Given the description of an element on the screen output the (x, y) to click on. 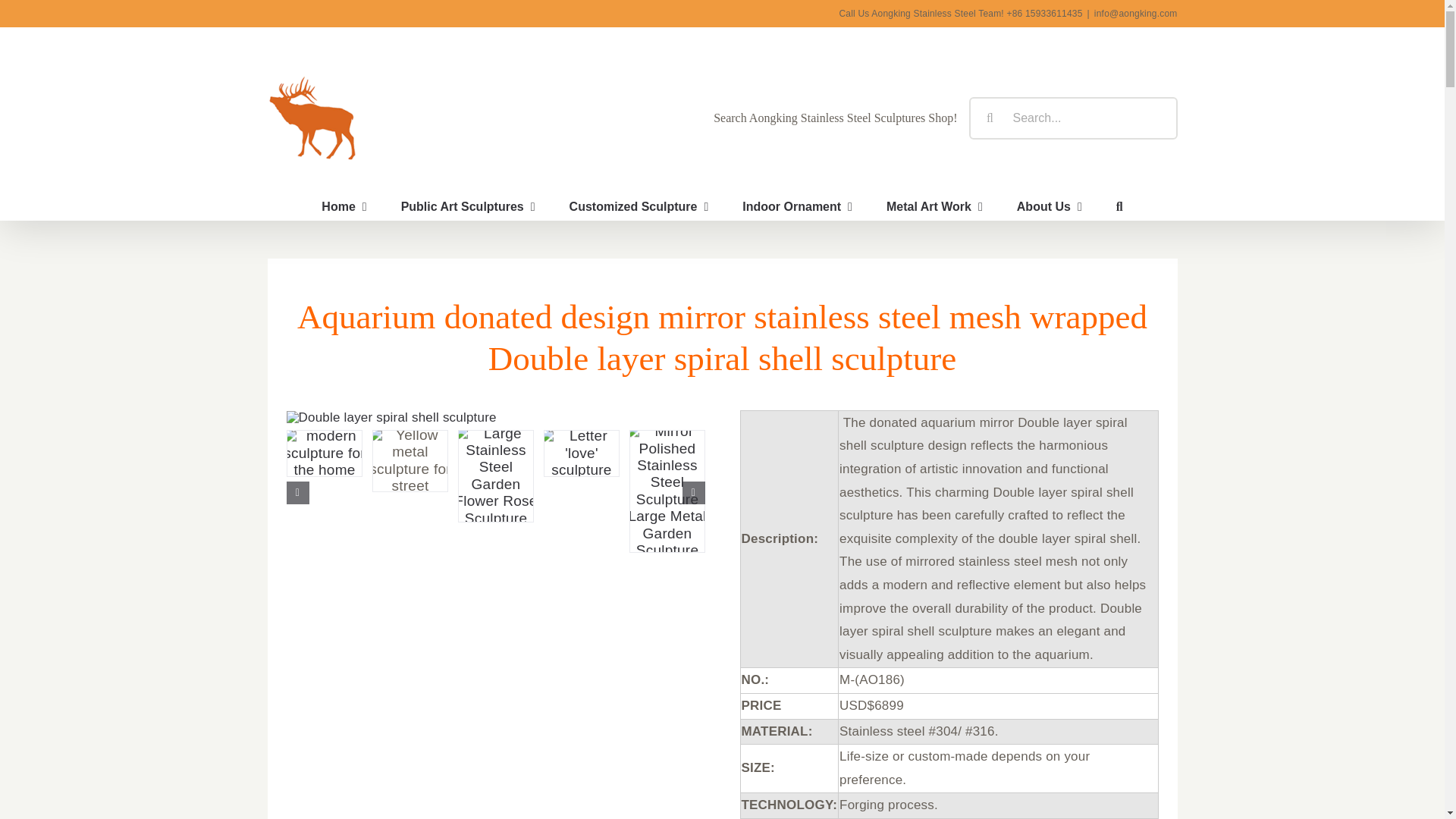
Public Art Sculptures (468, 206)
Stainless steel metal sculptures (343, 206)
Public Art Sculptures stainless steel (468, 206)
Customized Sculpture (639, 206)
Home (343, 206)
